Given the description of an element on the screen output the (x, y) to click on. 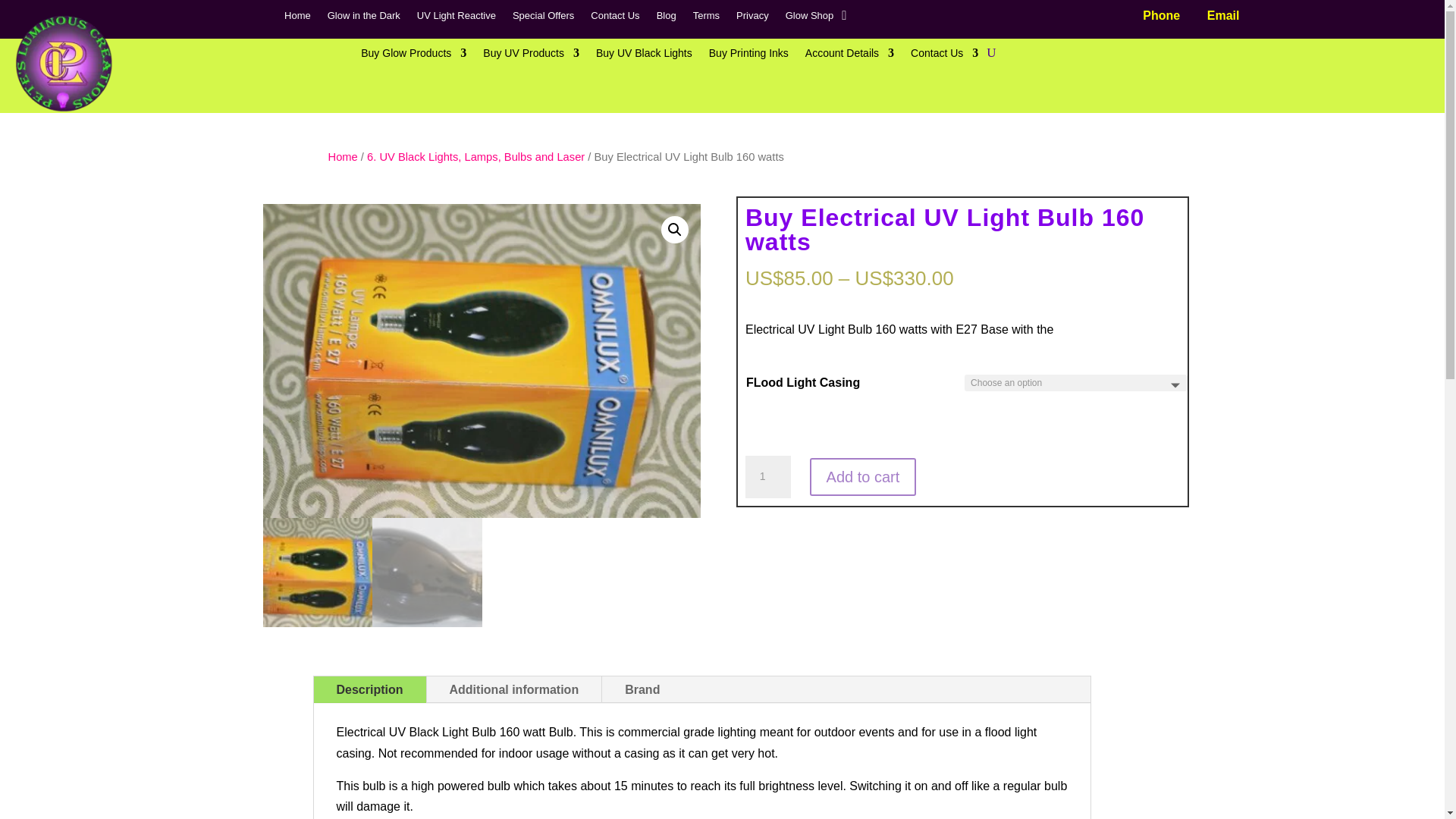
Special Offers (542, 18)
Privacy (752, 18)
PLC Logo Trans (63, 64)
Buy UV Black Lights (644, 55)
UV Black Light Bulb 160w (919, 320)
1 (767, 476)
Glow Shop (810, 18)
Buy UV Products (531, 55)
Glow in the Dark (363, 18)
Contact Us (615, 18)
Email (1223, 15)
Blog (666, 18)
Home (297, 18)
Buy Printing Inks (749, 55)
